Given the description of an element on the screen output the (x, y) to click on. 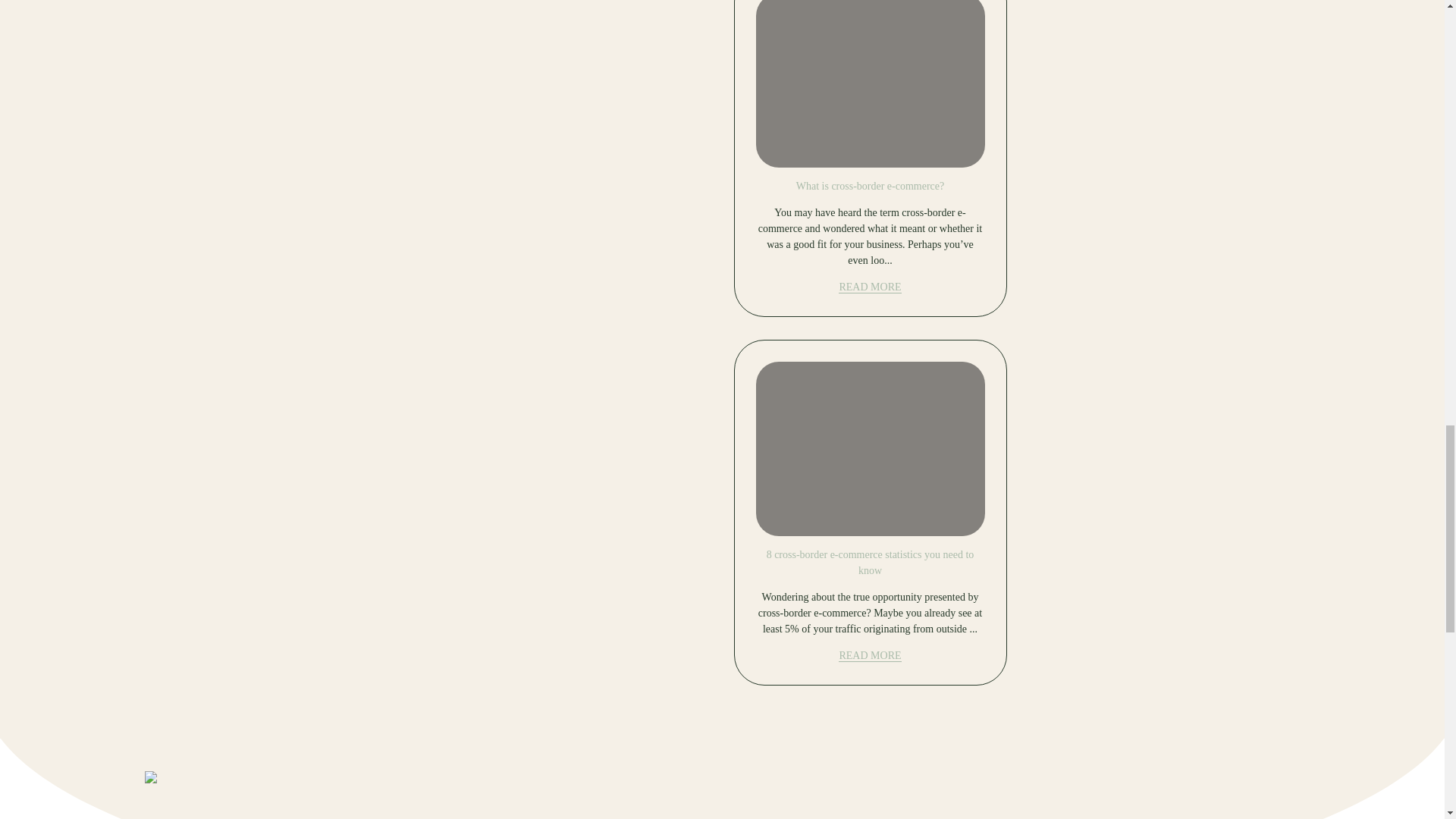
READ MORE (869, 287)
READ MORE (869, 655)
